Given the description of an element on the screen output the (x, y) to click on. 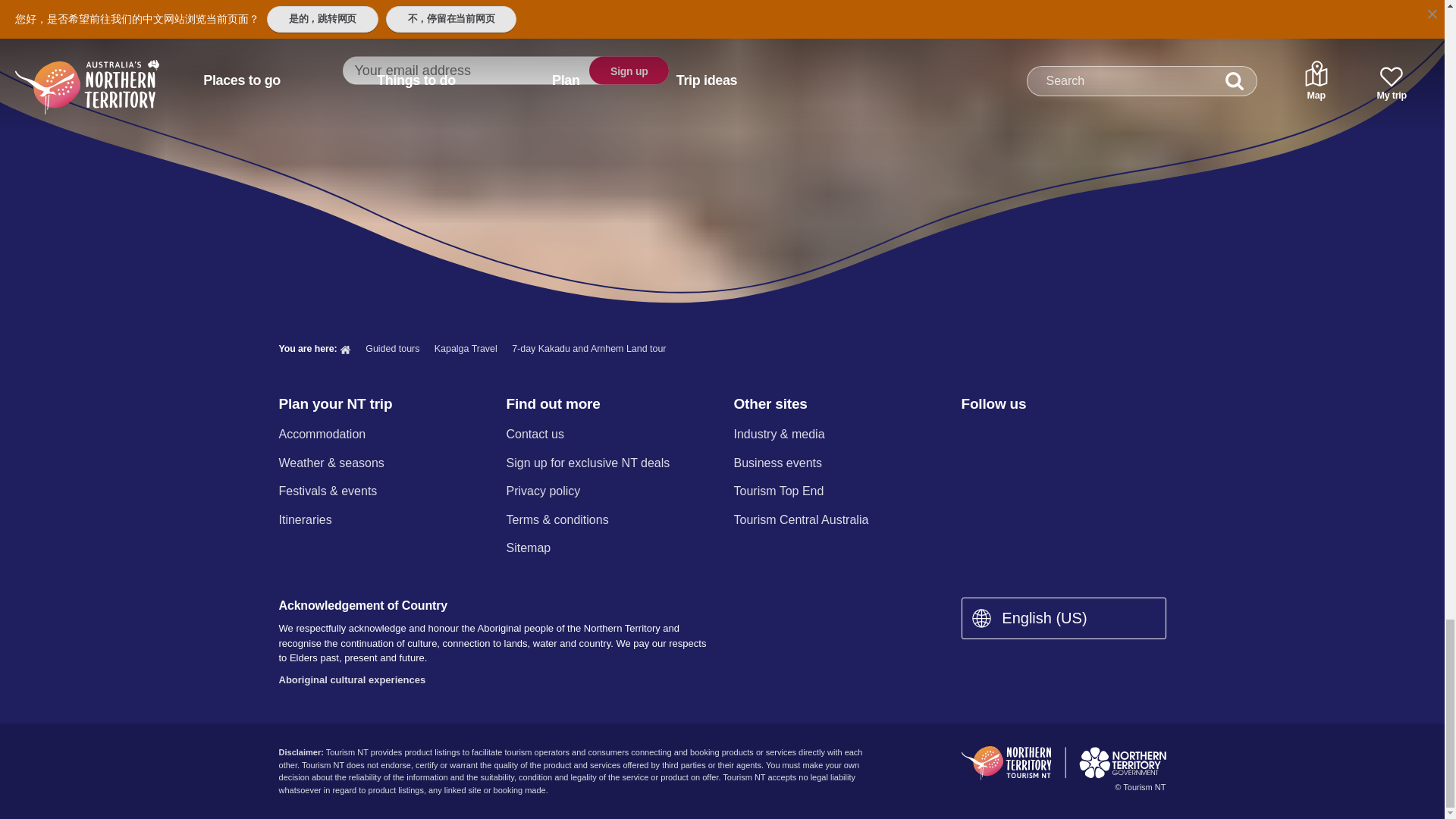
Twitter (1050, 435)
Trip Advisor (1129, 435)
Instagram (1009, 435)
YouTube (1089, 435)
Facebook (970, 435)
